Given the description of an element on the screen output the (x, y) to click on. 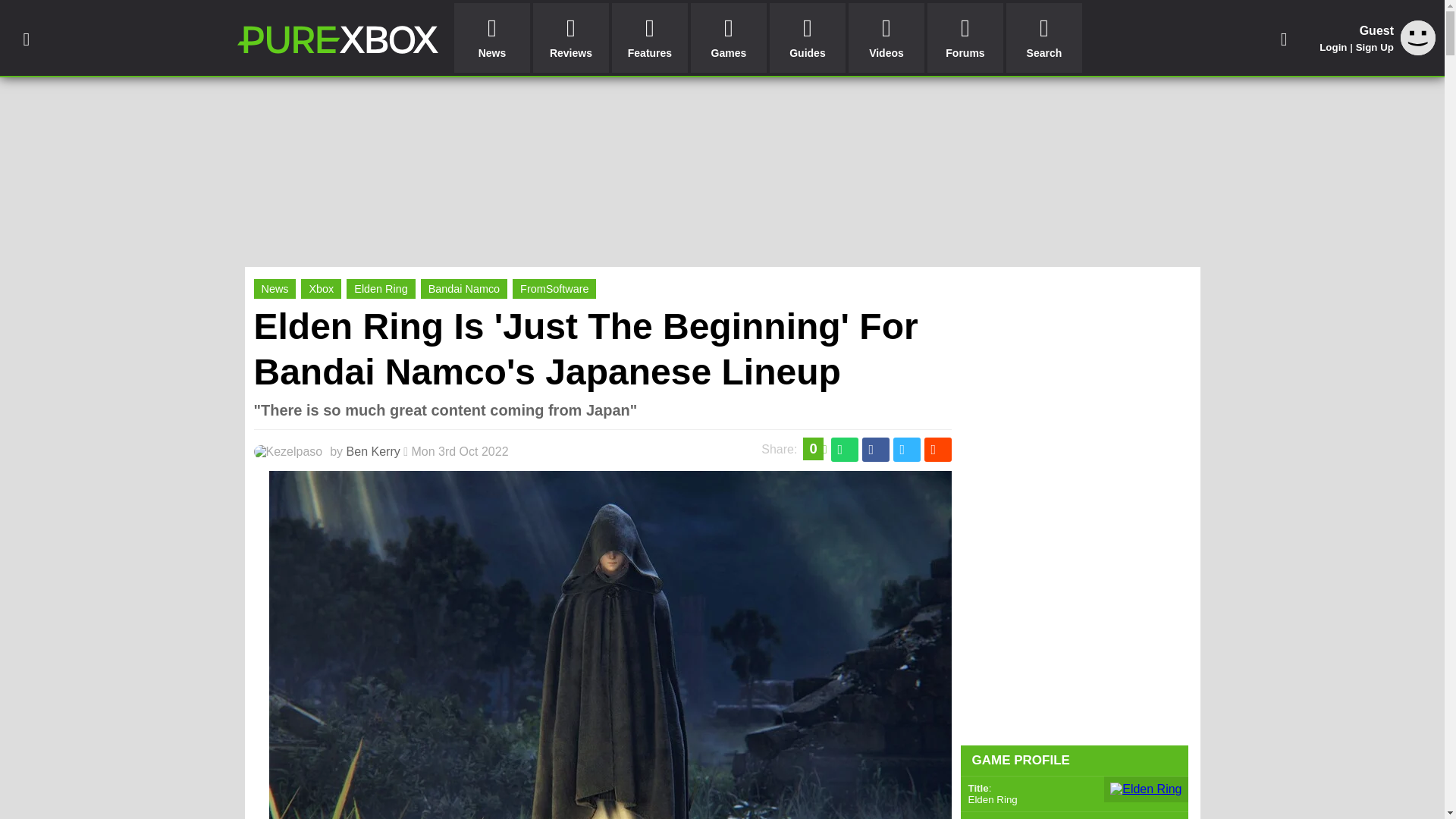
Features (649, 37)
Login (1332, 47)
Pure Xbox (336, 39)
Guest (1417, 51)
News (274, 288)
Elden Ring (380, 288)
Ben Kerry (373, 451)
FromSoftware (553, 288)
Guides (807, 37)
